Given the description of an element on the screen output the (x, y) to click on. 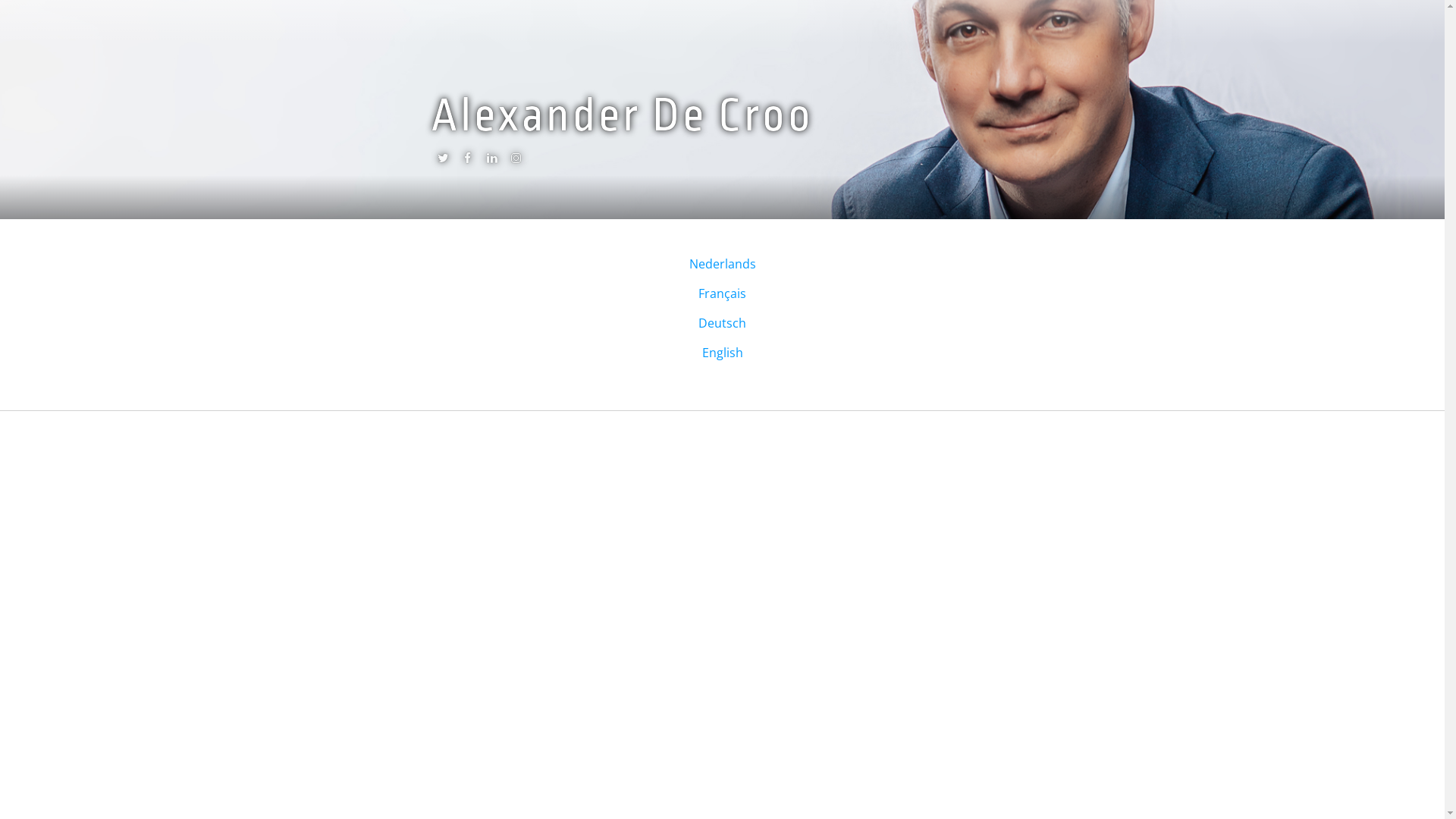
linkedin Element type: text (491, 161)
English Element type: text (722, 352)
instagram Element type: text (515, 161)
Skip to main content Element type: text (59, 0)
facebook Element type: text (467, 161)
Deutsch Element type: text (722, 322)
Nederlands Element type: text (721, 263)
Alexander De Croo Element type: text (621, 115)
twitter Element type: text (442, 161)
